Given the description of an element on the screen output the (x, y) to click on. 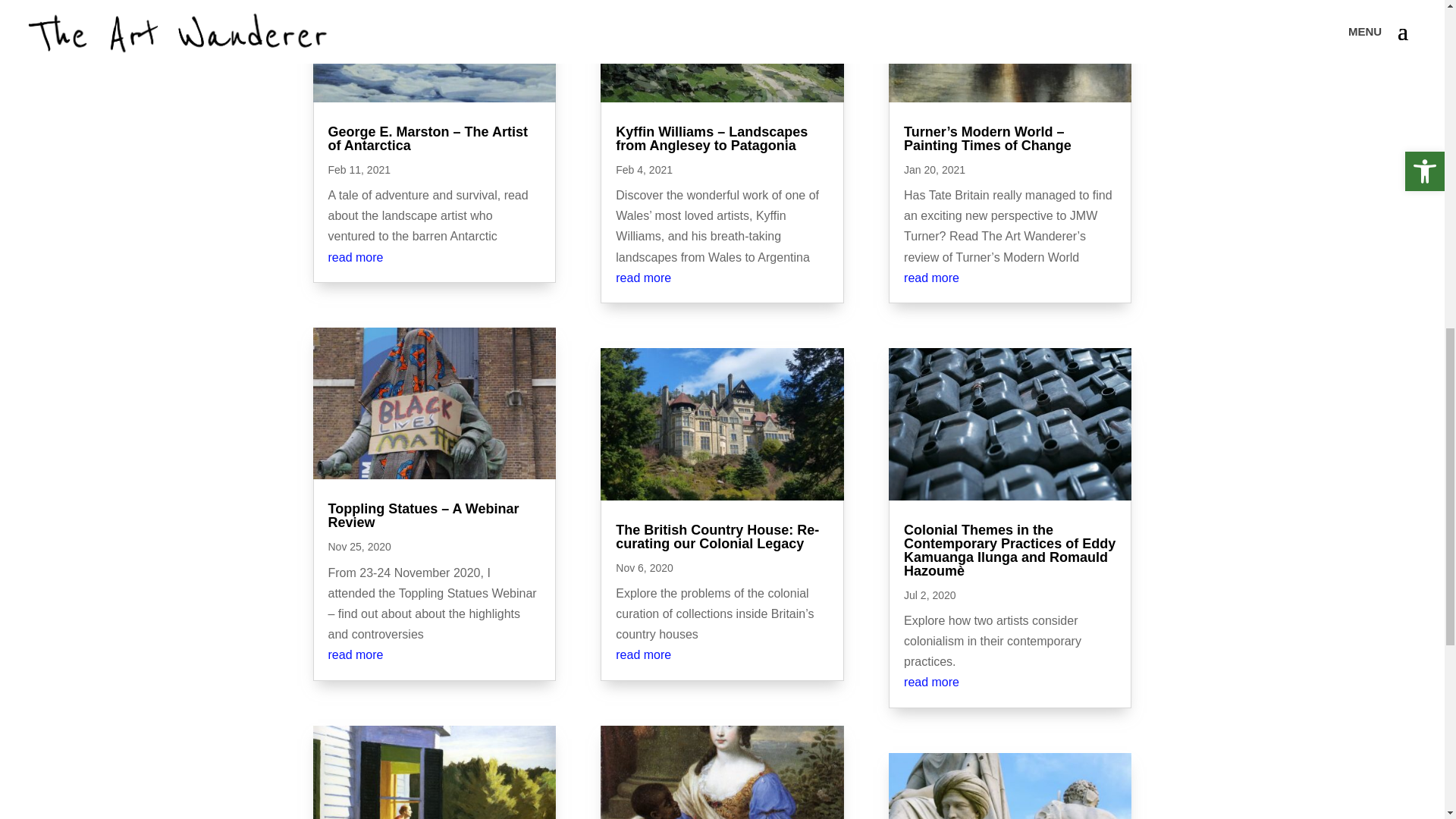
read more (354, 654)
read more (354, 256)
